Given the description of an element on the screen output the (x, y) to click on. 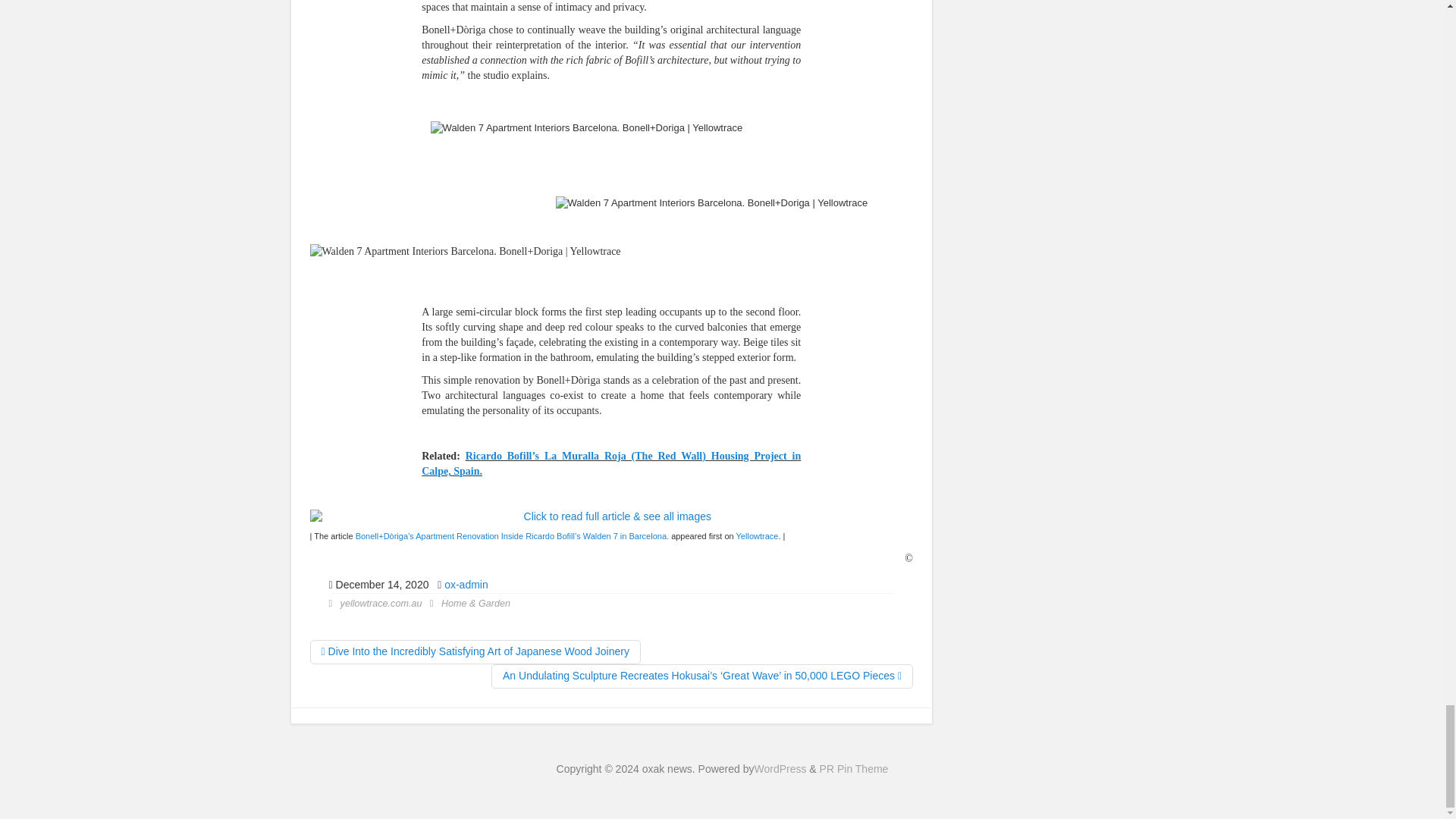
yellowtrace.com.au (381, 603)
PR Pin Theme (853, 768)
PR Pin Theme (853, 768)
ox-admin (465, 584)
Yellowtrace (757, 535)
Posts by ox-admin (465, 584)
WordPress (780, 768)
WordPress (780, 768)
